Given the description of an element on the screen output the (x, y) to click on. 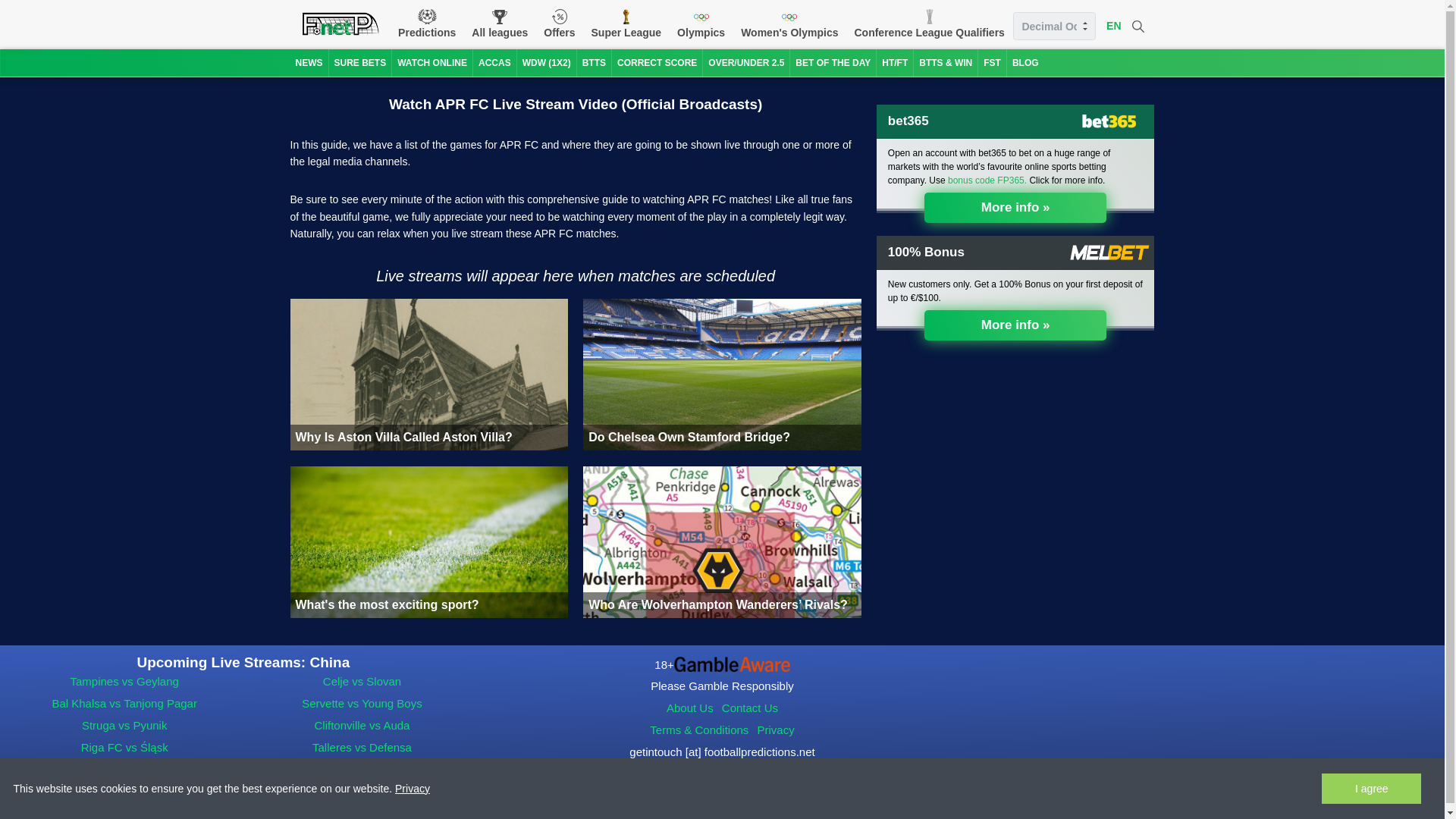
All leagues (499, 24)
WATCH ONLINE (431, 62)
ACCAS (494, 62)
FST (992, 62)
Predictions (426, 24)
BTTS (593, 62)
EN (1113, 25)
Women's Olympics (789, 24)
Super League (626, 24)
Do Chelsea Own Stamford Bridge? (722, 374)
What's the most exciting sport? (428, 541)
Conference League Qualifiers (928, 24)
SURE BETS (360, 62)
bonus code FP365. (986, 180)
BET OF THE DAY (833, 62)
